Given the description of an element on the screen output the (x, y) to click on. 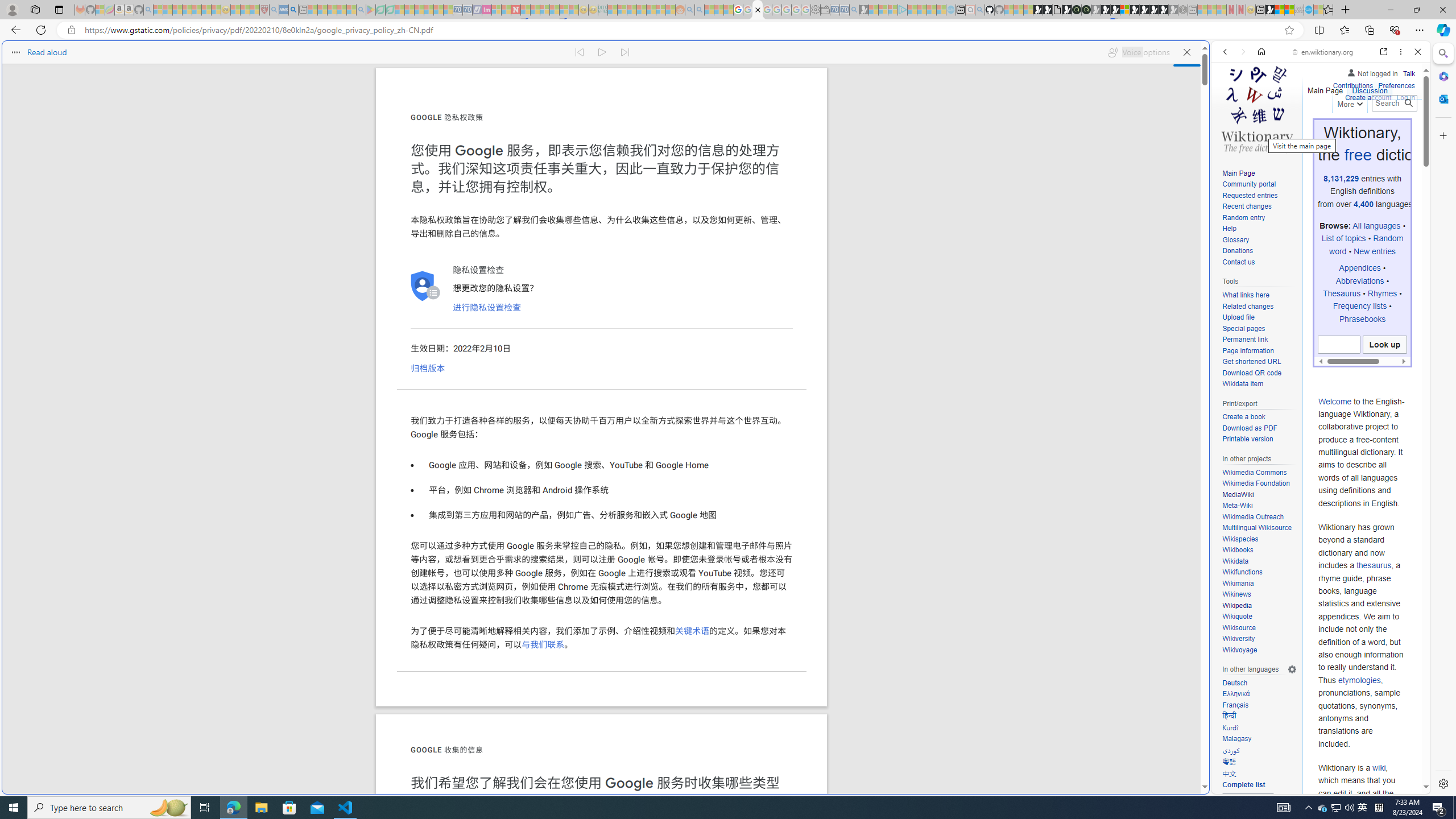
Random word (1366, 244)
Multilingual Wikisource (1256, 528)
Wikidata item (1259, 383)
Talk (1408, 71)
Wikidata (1235, 560)
Donations (1237, 250)
Continue to read aloud (Ctrl+Shift+U) (602, 52)
Discussion (1369, 87)
